Given the description of an element on the screen output the (x, y) to click on. 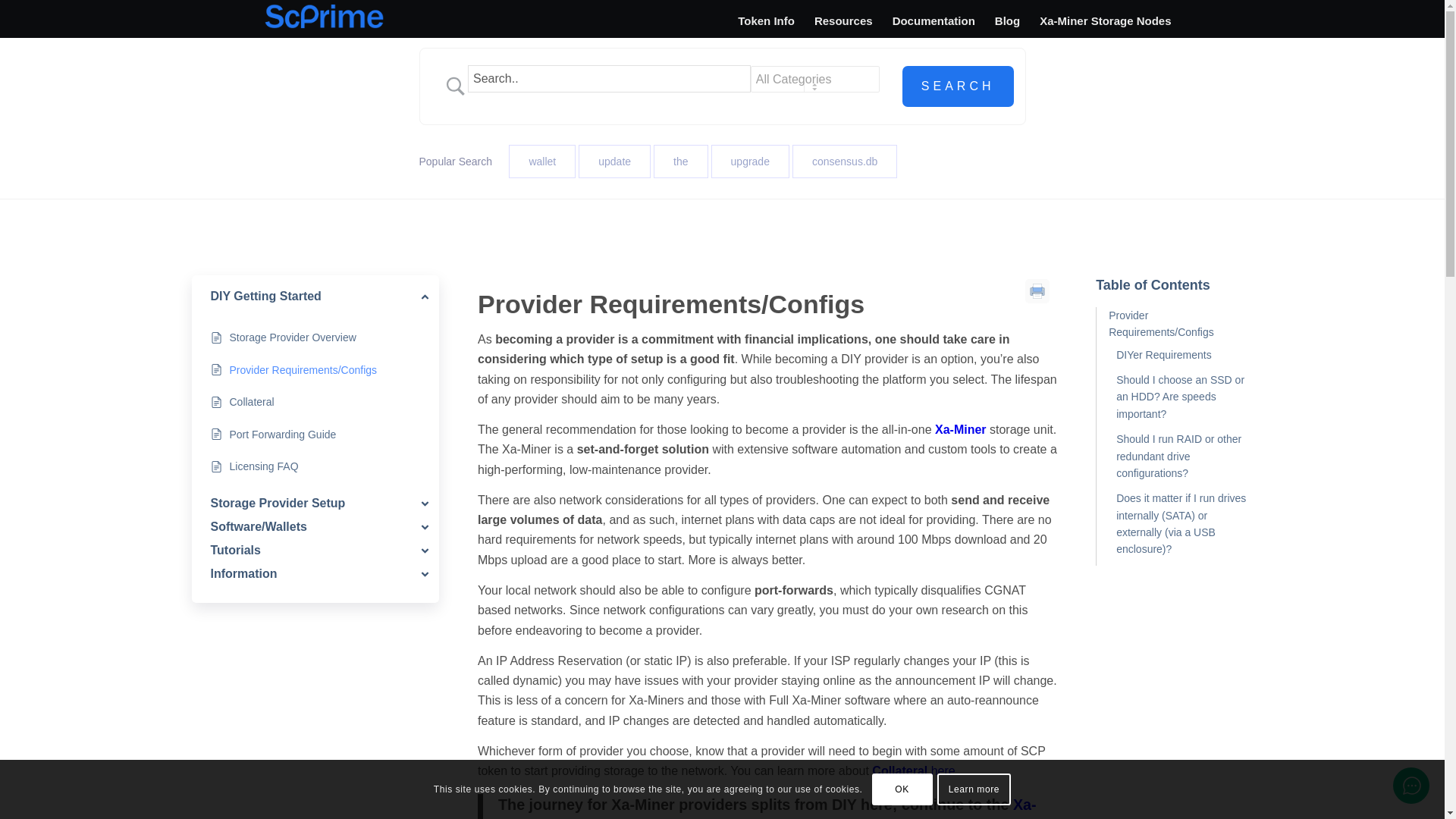
Search (957, 86)
Blog (1007, 20)
Collateral (250, 401)
Resources (843, 20)
Search (957, 86)
Search (957, 86)
Port Forwarding Guide (282, 434)
Xa-Miner Storage Nodes (1104, 20)
Licensing FAQ (263, 466)
Storage Provider Overview (291, 337)
Documentation (933, 20)
Token Info (766, 20)
